Given the description of an element on the screen output the (x, y) to click on. 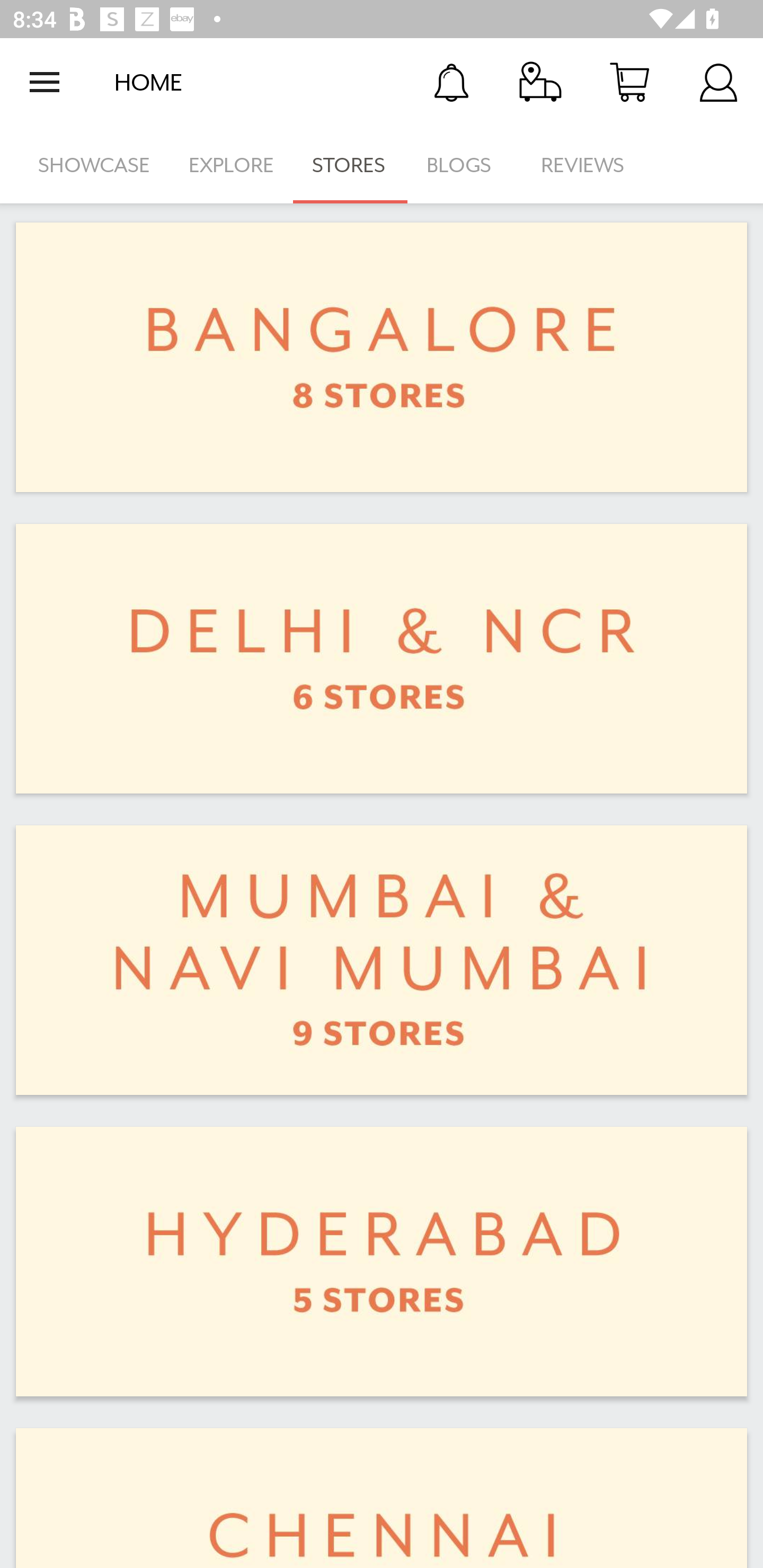
Open navigation drawer (44, 82)
Notification (450, 81)
Track Order (540, 81)
Cart (629, 81)
Account Details (718, 81)
SHOWCASE (94, 165)
EXPLORE (230, 165)
STORES (349, 165)
BLOGS (464, 165)
REVIEWS (582, 165)
